Given the description of an element on the screen output the (x, y) to click on. 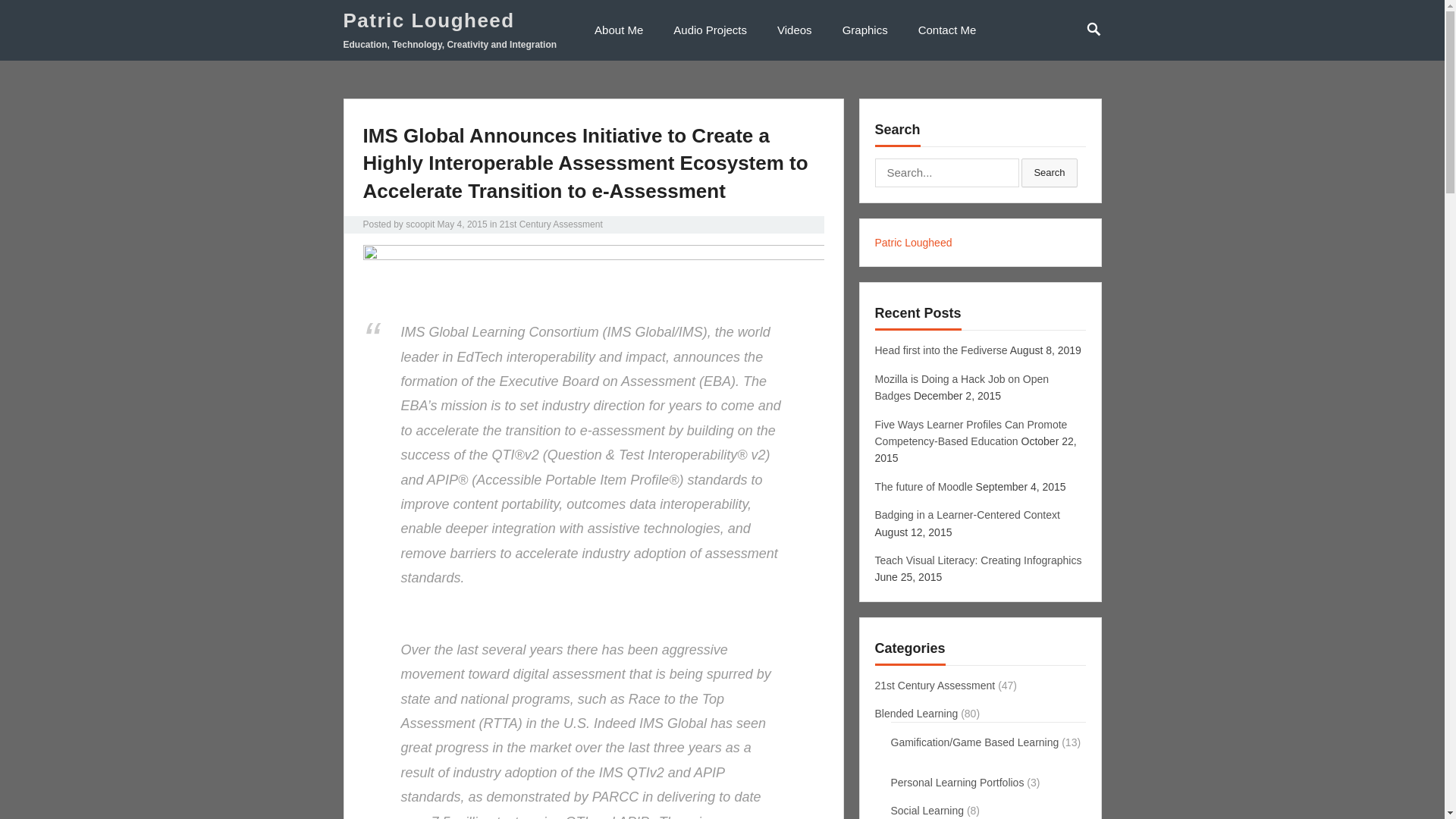
21st Century Assessment (550, 224)
Patric Lougheed (449, 20)
21st Century Assessment (935, 685)
View all posts in 21st Century Assessment (550, 224)
Audio Projects (709, 30)
Mozilla is Doing a Hack Job on Open Badges (962, 387)
Social Learning (926, 810)
Patric Lougheed (913, 242)
About Me (618, 30)
Graphics (864, 30)
